Given the description of an element on the screen output the (x, y) to click on. 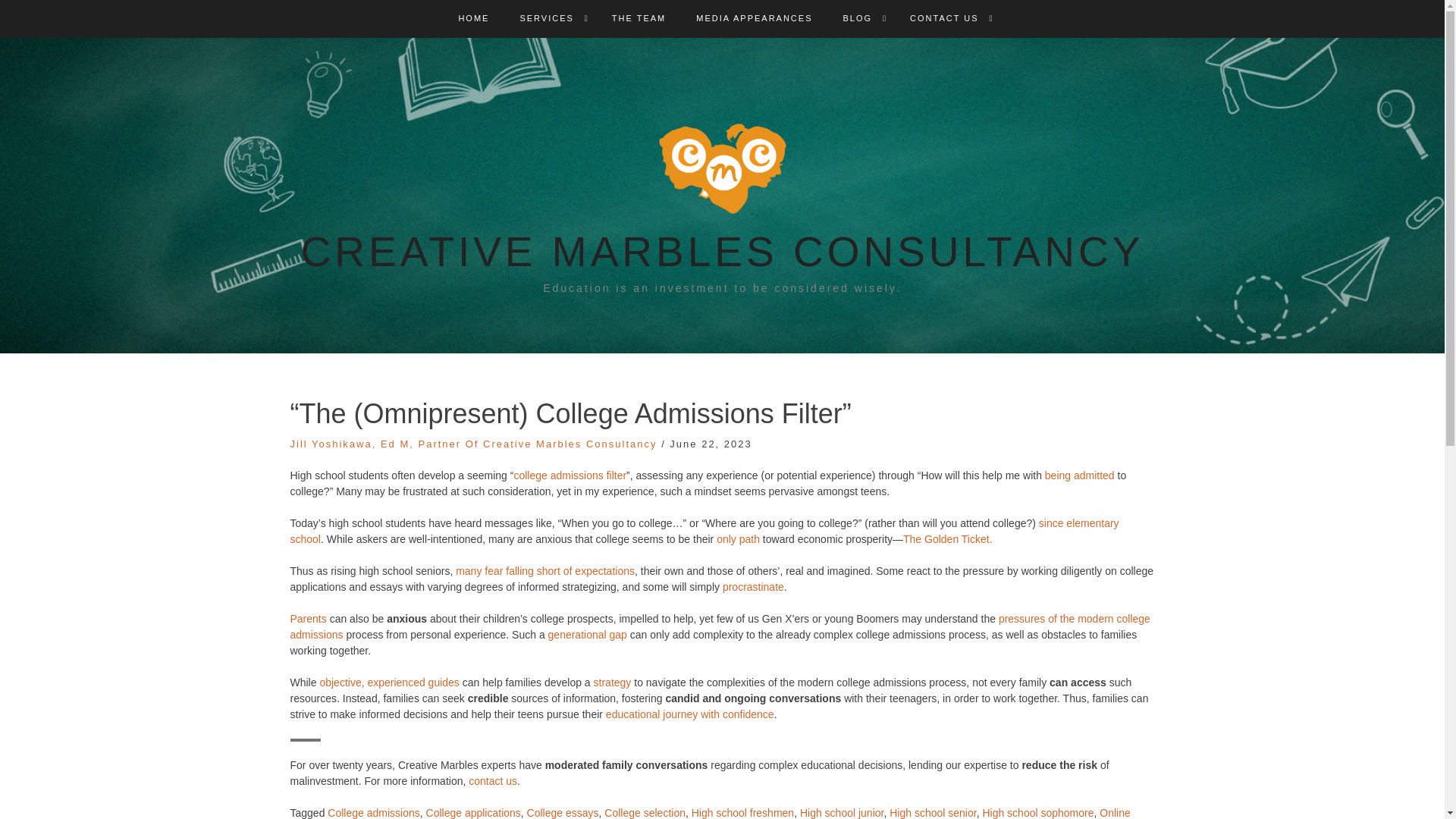
since elementary school (703, 530)
only path (738, 539)
generational gap (587, 634)
College admissions (373, 812)
educational journey with confidence (689, 714)
Parents (307, 618)
College applications (473, 812)
being admitted (1078, 475)
college admissions filter (569, 475)
THE TEAM (638, 18)
many fear falling short of expectations (544, 571)
CREATIVE MARBLES CONSULTANCY (722, 251)
strategy (612, 682)
CONTACT US (944, 18)
